Given the description of an element on the screen output the (x, y) to click on. 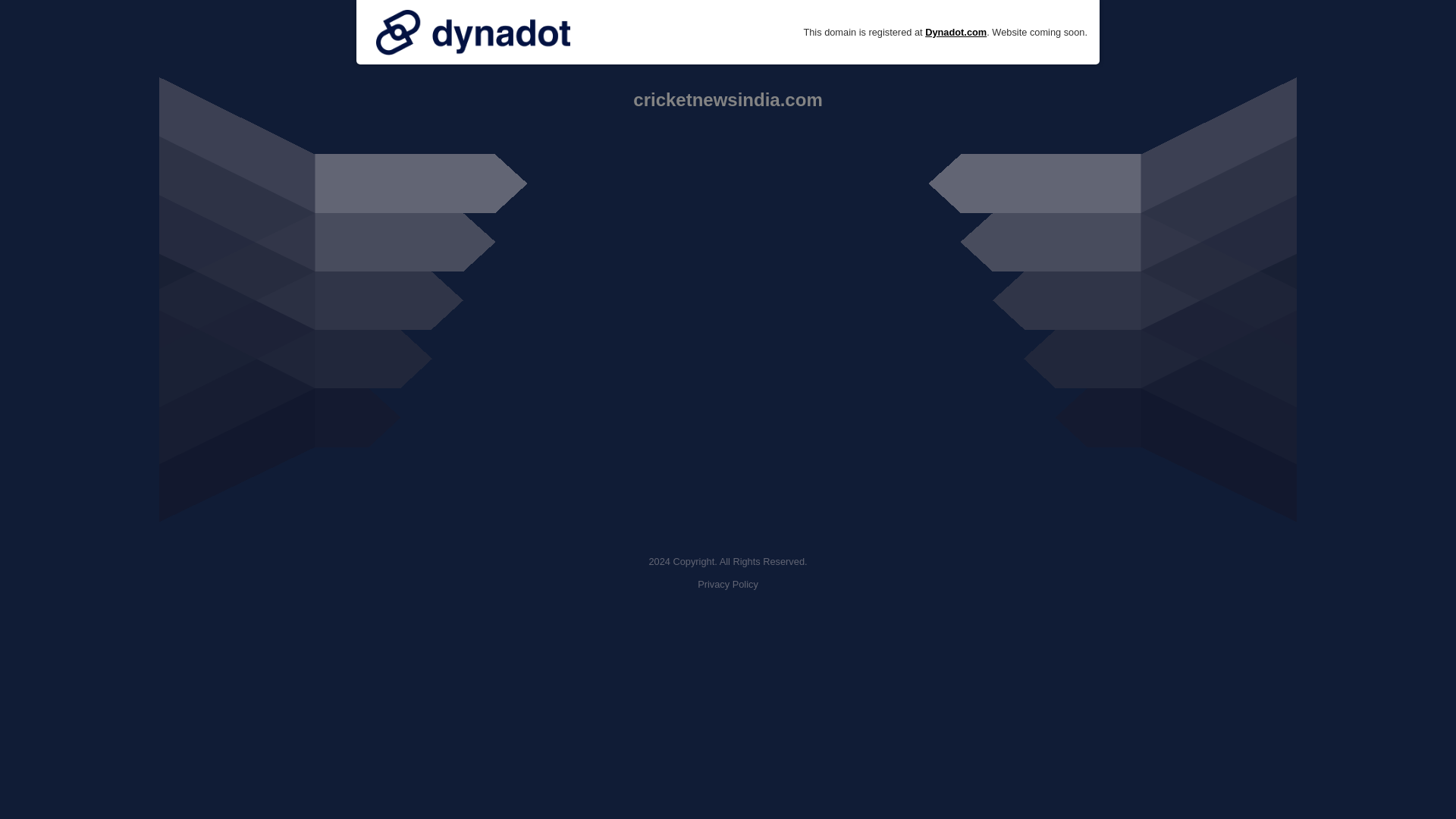
Dynadot.com (955, 31)
Privacy Policy (727, 583)
Domain managed at Dynadot.com (473, 31)
